Given the description of an element on the screen output the (x, y) to click on. 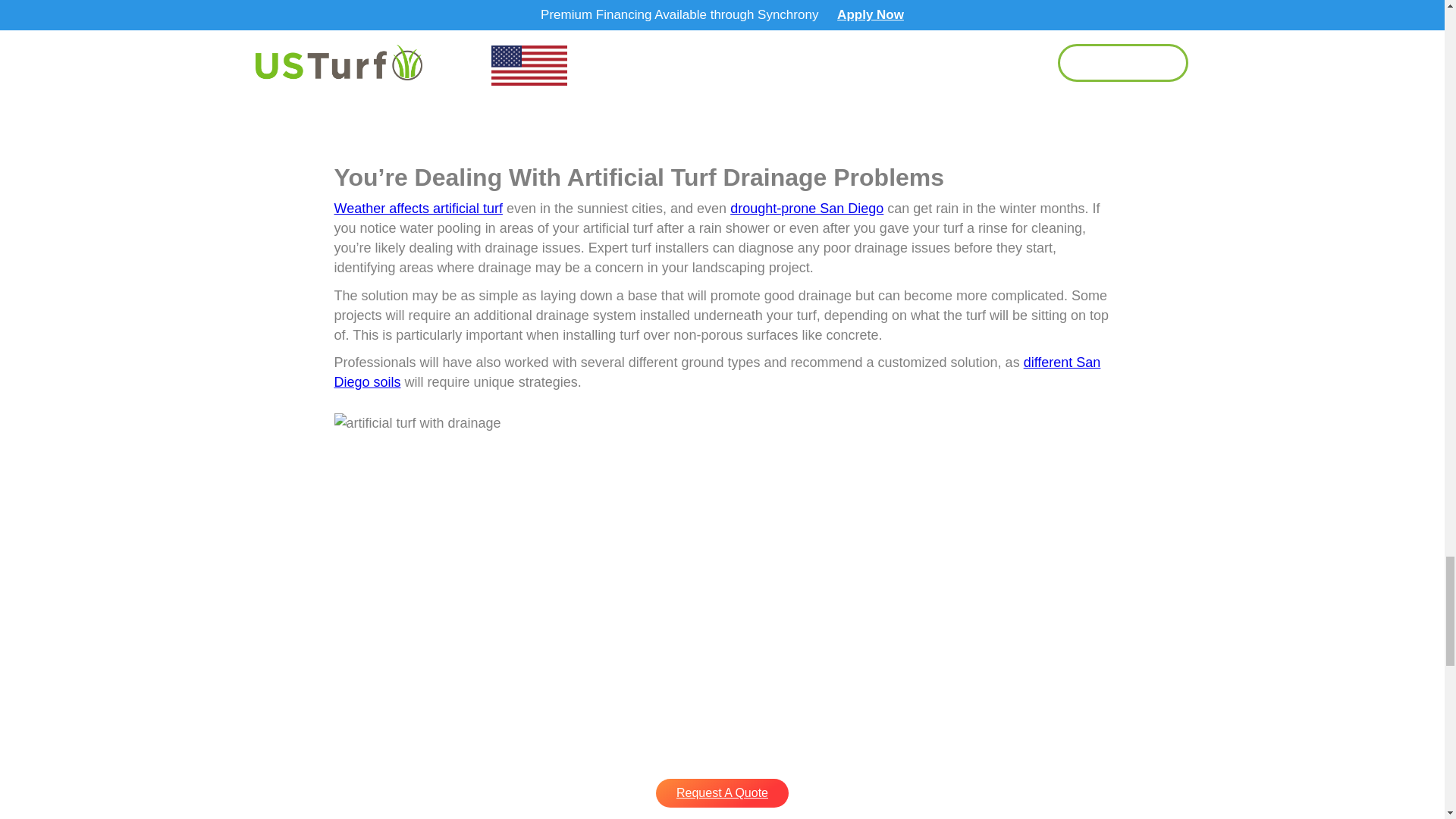
Weather affects artificial turf (417, 208)
drought-prone San Diego (806, 208)
different San Diego soils (716, 371)
